Given the description of an element on the screen output the (x, y) to click on. 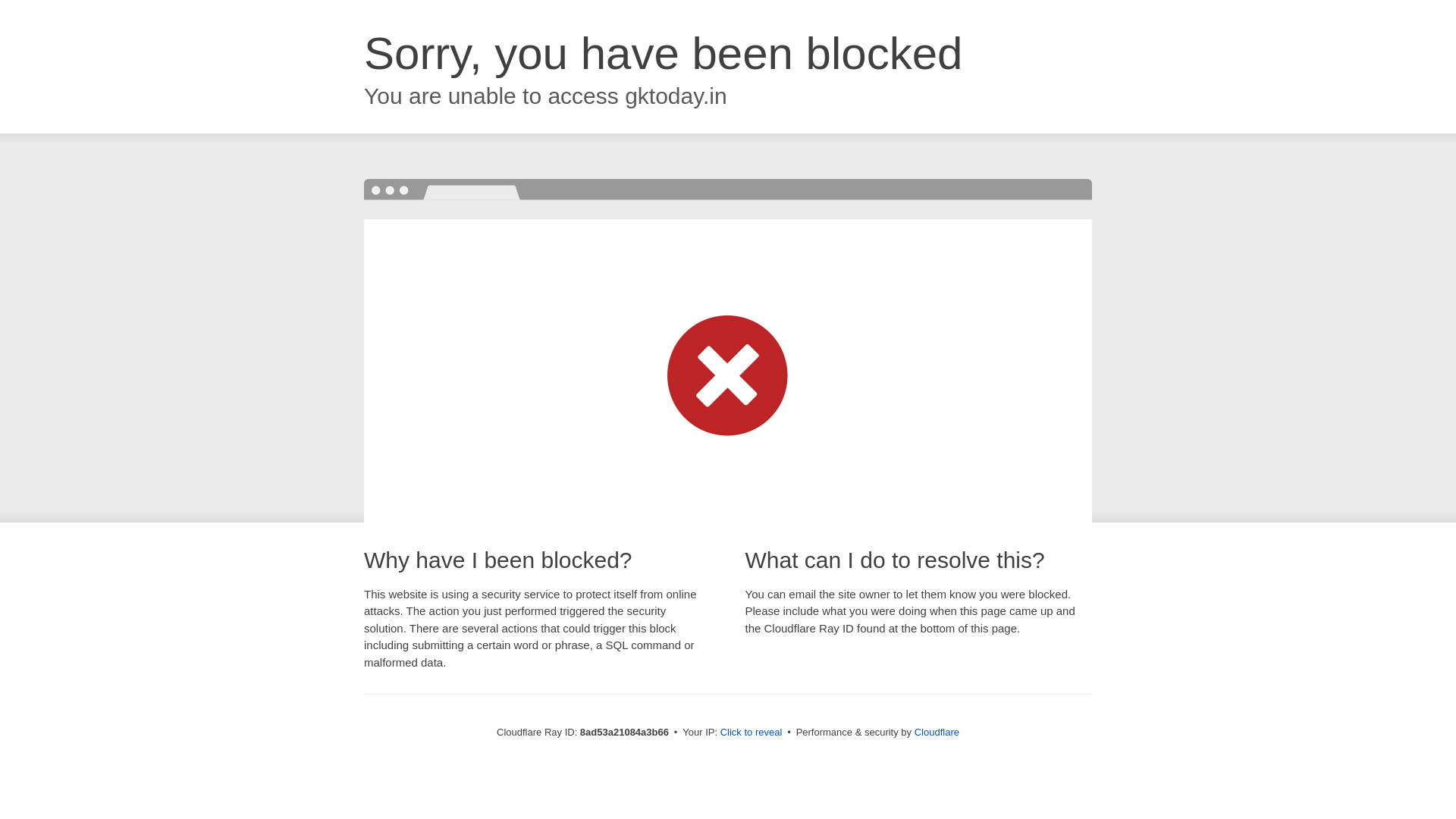
Cloudflare (936, 731)
Click to reveal (751, 732)
